Given the description of an element on the screen output the (x, y) to click on. 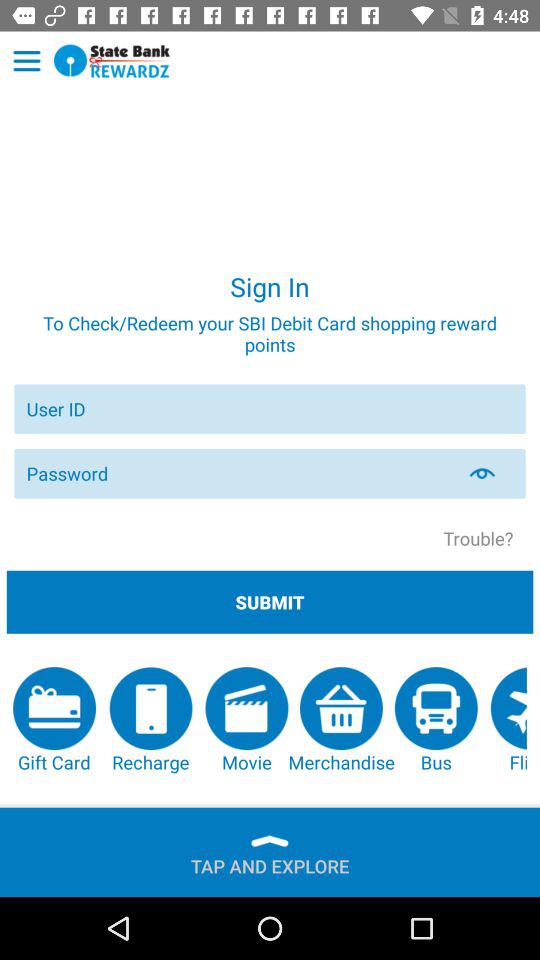
tap item below the gift card app (270, 861)
